Given the description of an element on the screen output the (x, y) to click on. 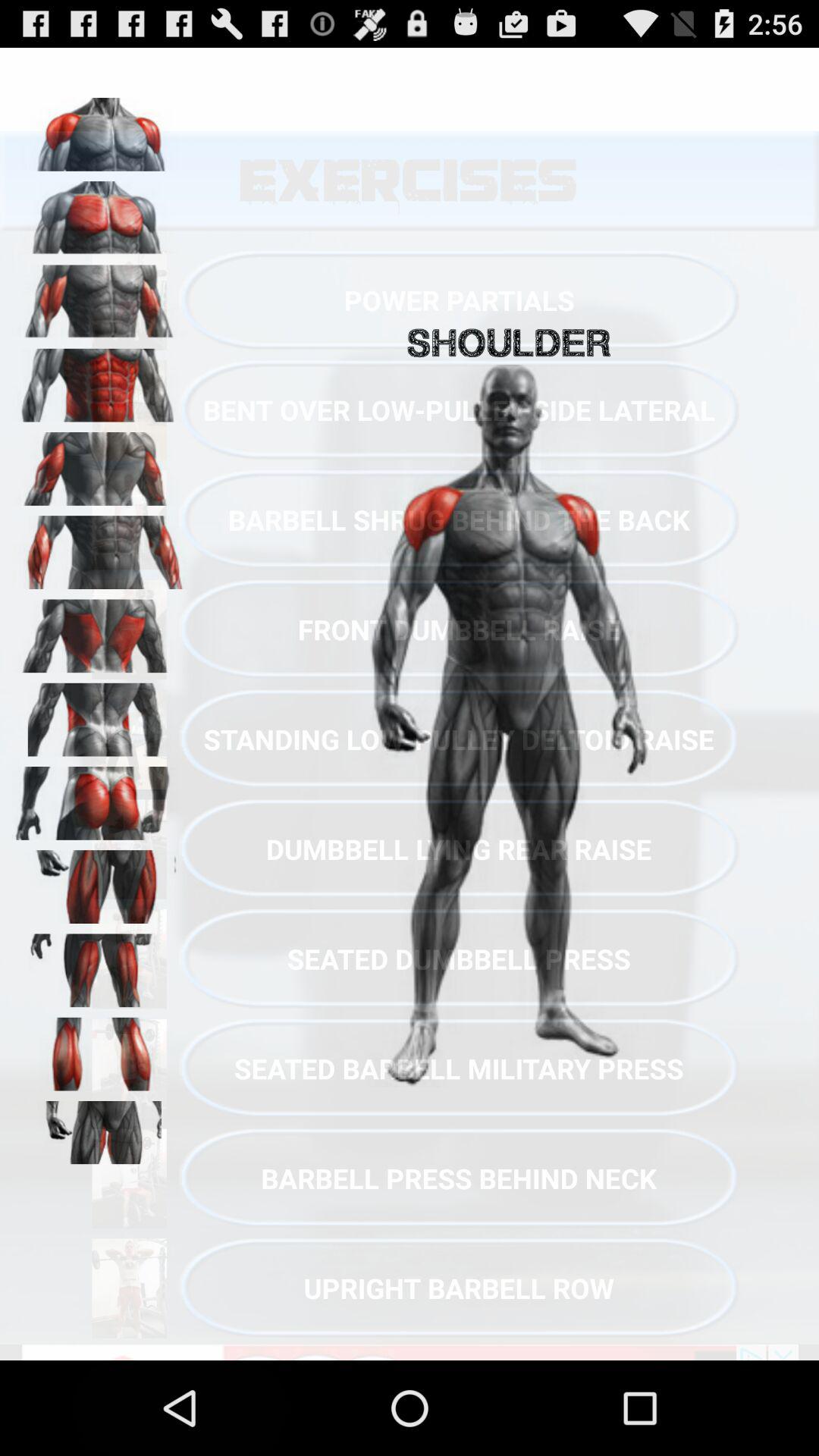
select shoulders (99, 129)
